Given the description of an element on the screen output the (x, y) to click on. 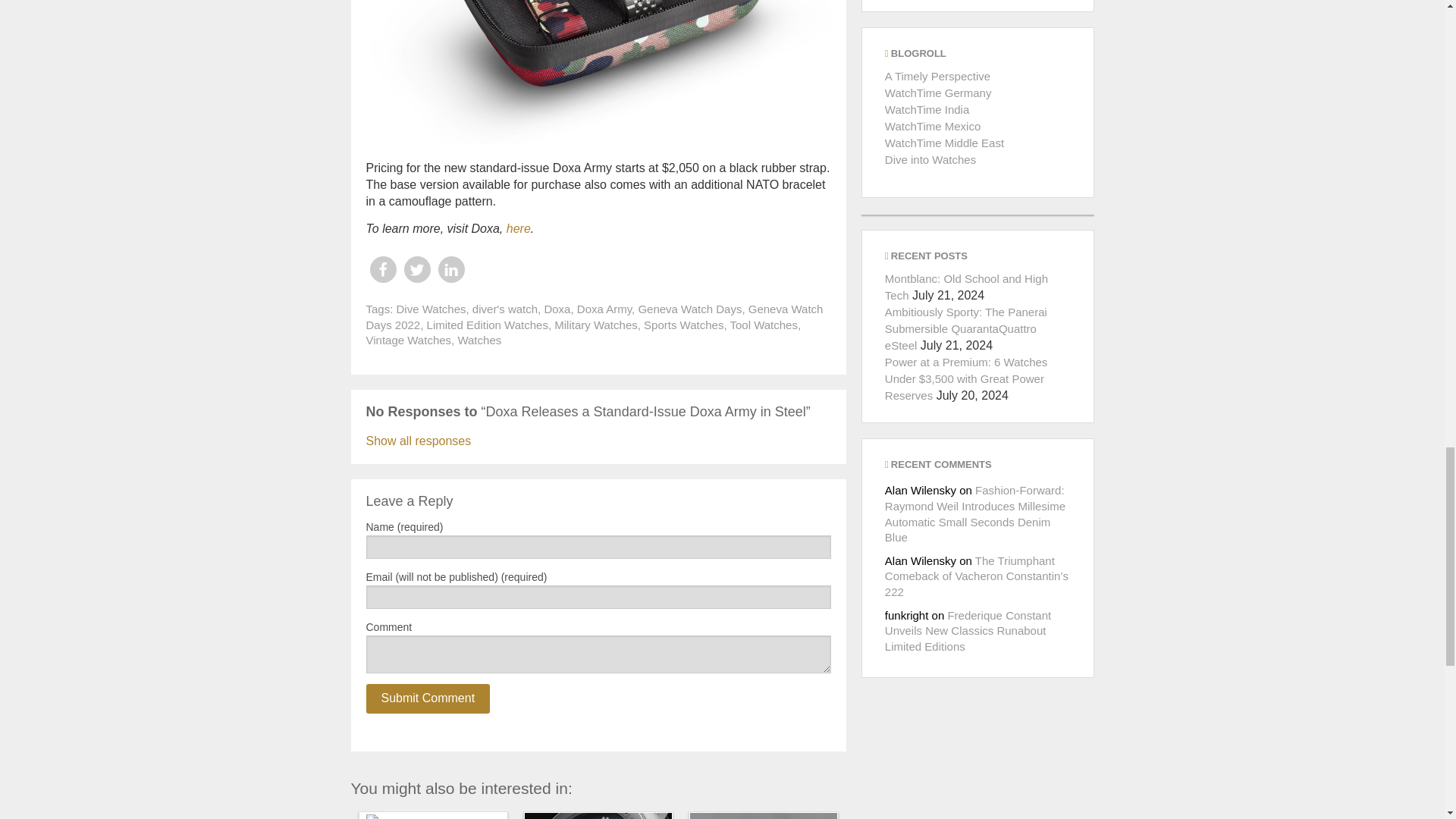
Submit Comment (427, 698)
Share on Twitter (416, 269)
Share on LinkedIn (451, 269)
Share on Facebook (382, 269)
